Given the description of an element on the screen output the (x, y) to click on. 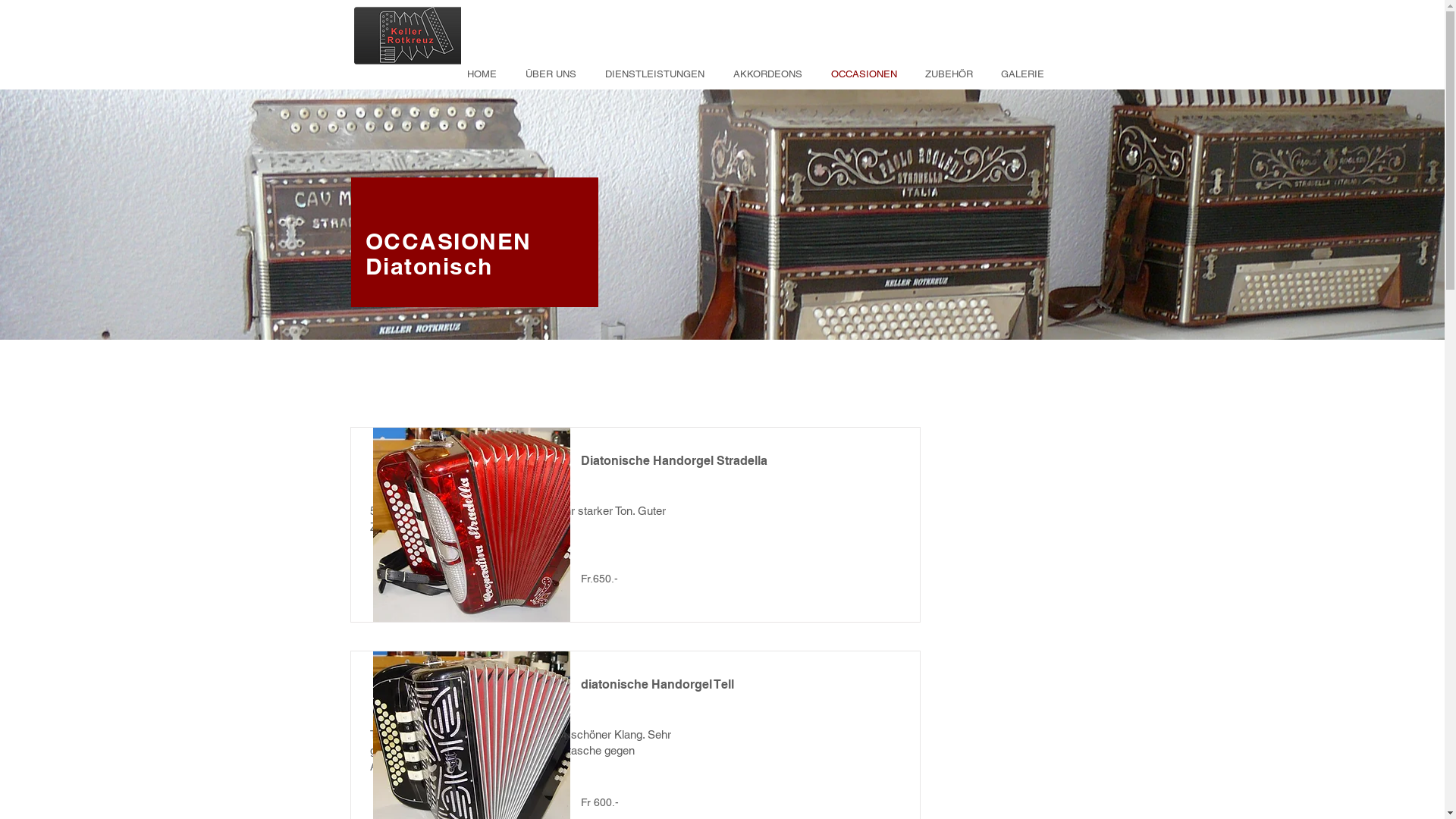
GALERIE Element type: text (1019, 73)
AKKORDEONS Element type: text (764, 73)
HOME Element type: text (477, 73)
Diatonische Handorgel Stradella Element type: hover (471, 523)
OCCASIONEN Element type: text (859, 73)
OCCASIONEN Element type: text (448, 240)
DIENSTLEISTUNGEN Element type: text (650, 73)
